Given the description of an element on the screen output the (x, y) to click on. 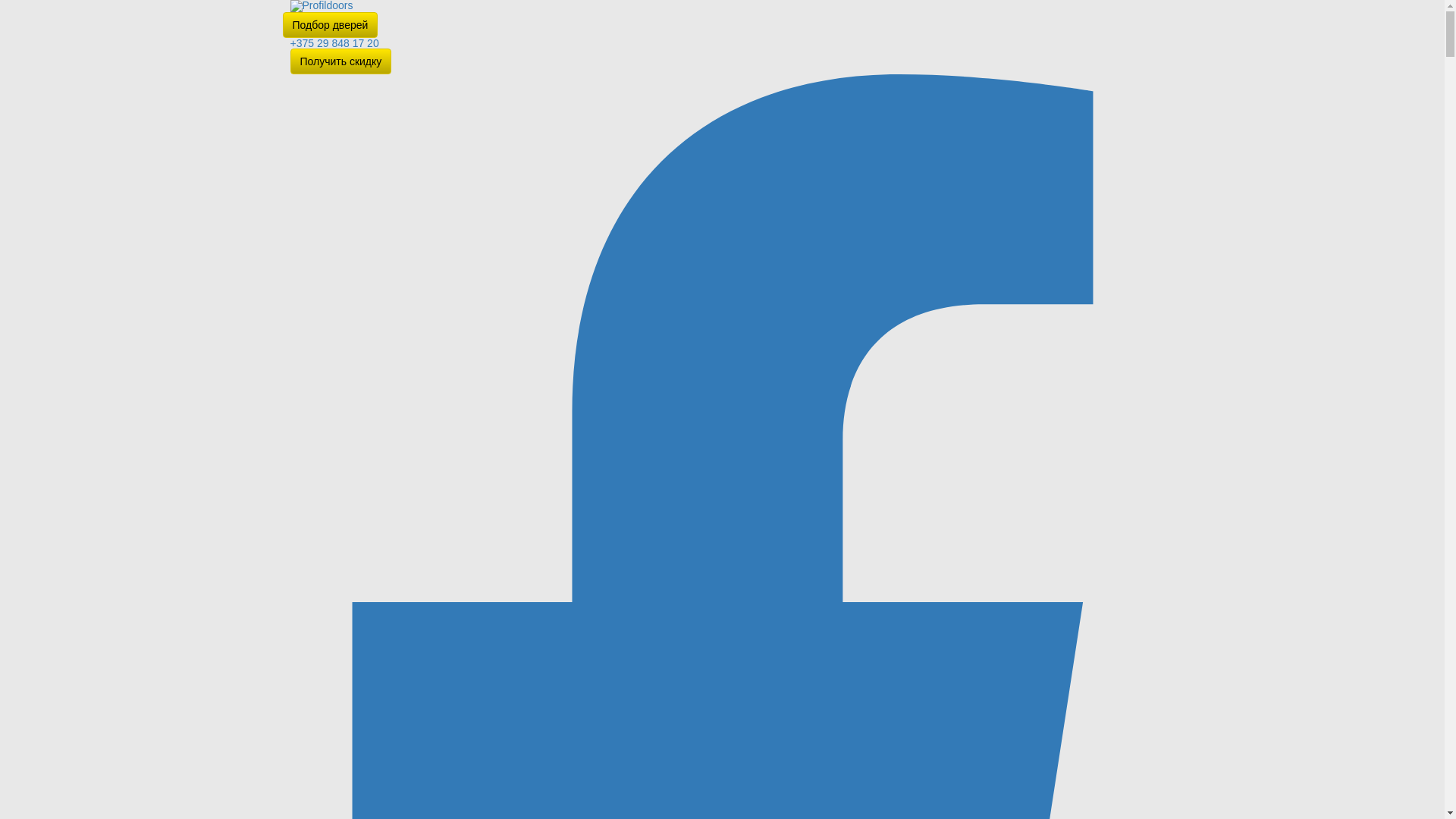
+375 29 848 17 20 Element type: text (333, 43)
